Given the description of an element on the screen output the (x, y) to click on. 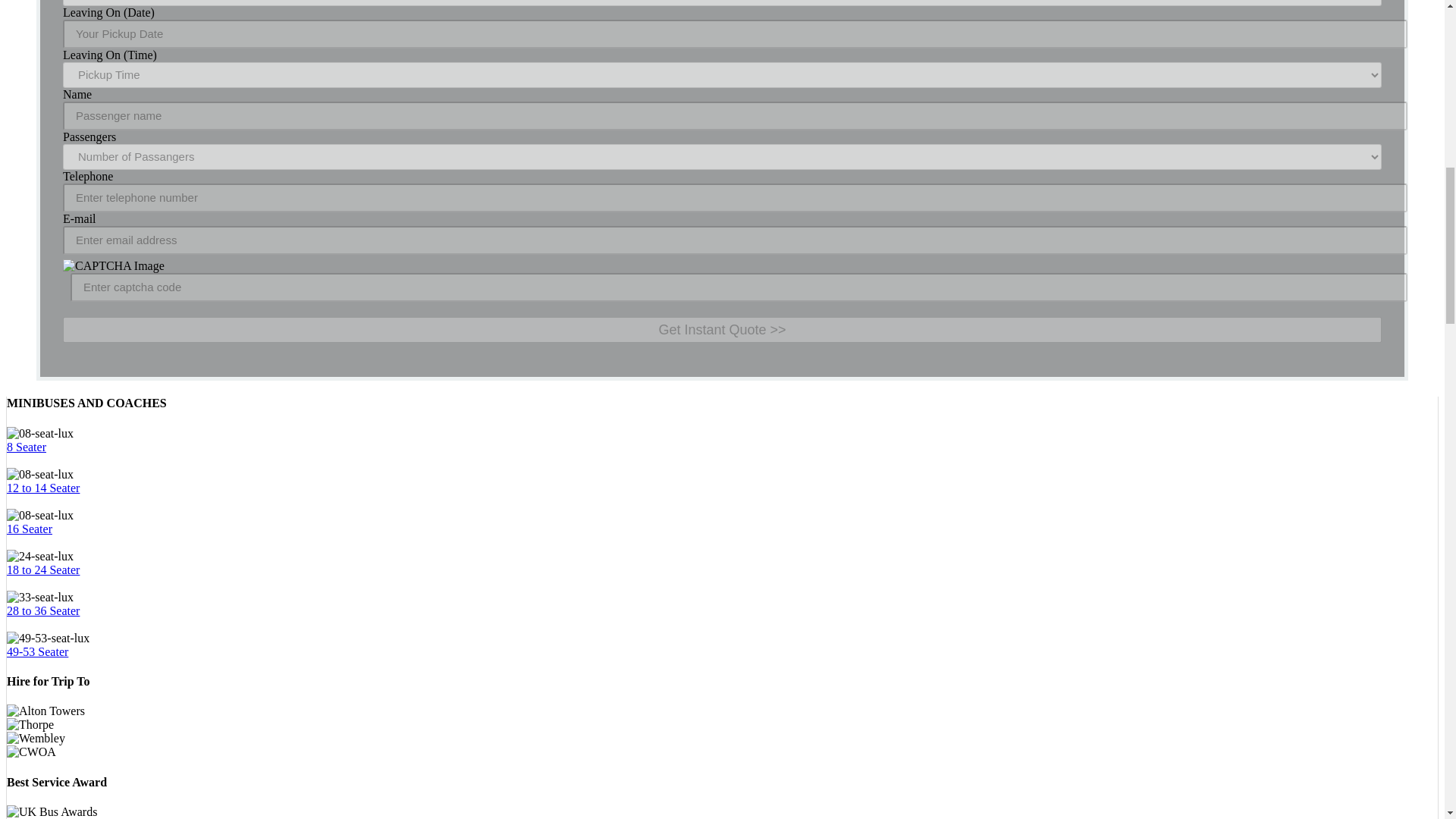
18 to 24 Seater (43, 569)
16 Seater (29, 528)
49-53 Seater (37, 651)
12 to 14 Seater (43, 487)
Select Numbers of Passangers (721, 156)
28 to 36 Seater (43, 610)
8 Seater (26, 446)
Select Your Pickup Time (721, 74)
Pick Your Pickup Date (734, 33)
Enter Your Name (734, 115)
